Given the description of an element on the screen output the (x, y) to click on. 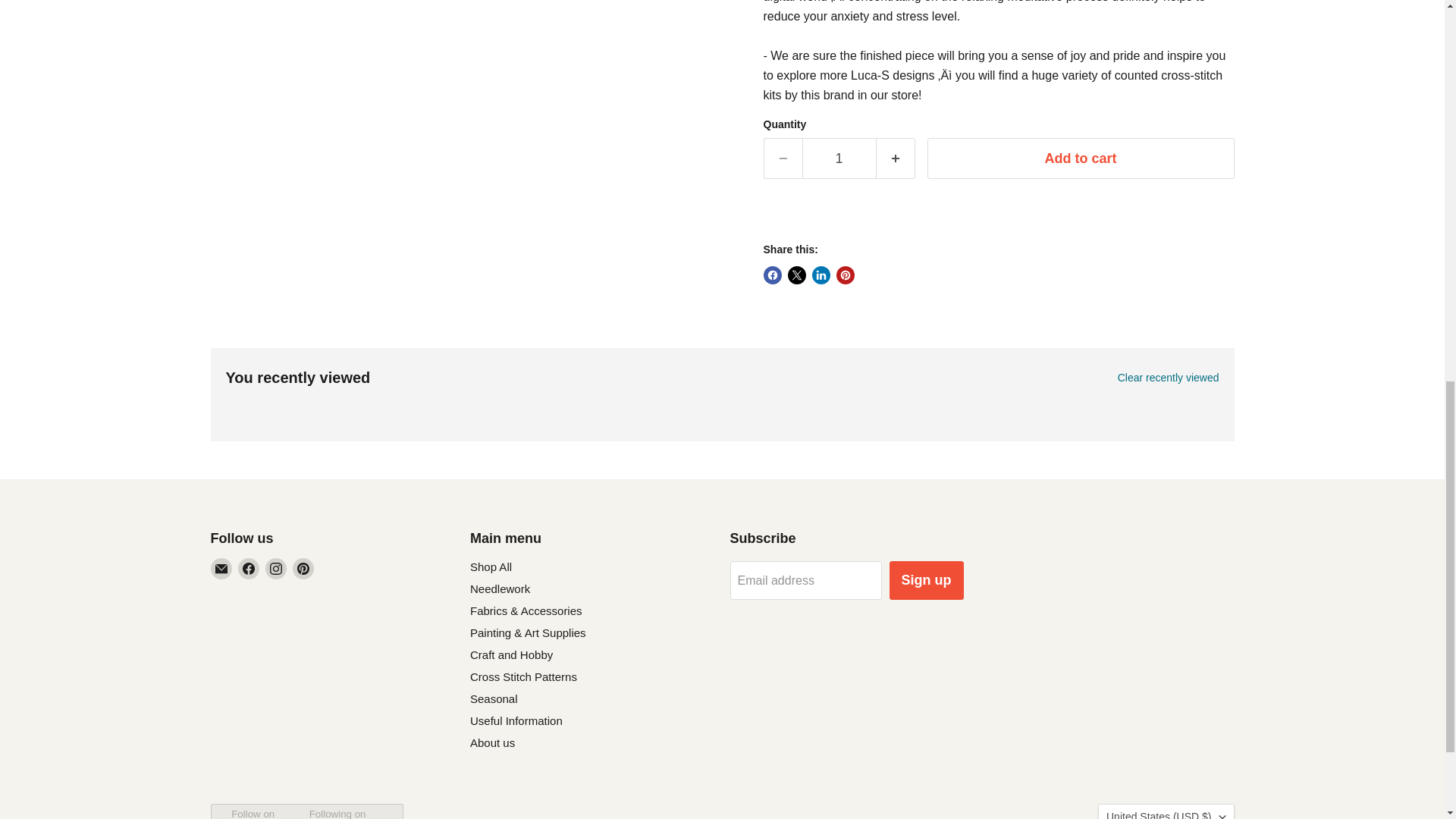
Pinterest (303, 568)
Facebook (248, 568)
Instagram (275, 568)
1 (839, 158)
Email (221, 568)
